Given the description of an element on the screen output the (x, y) to click on. 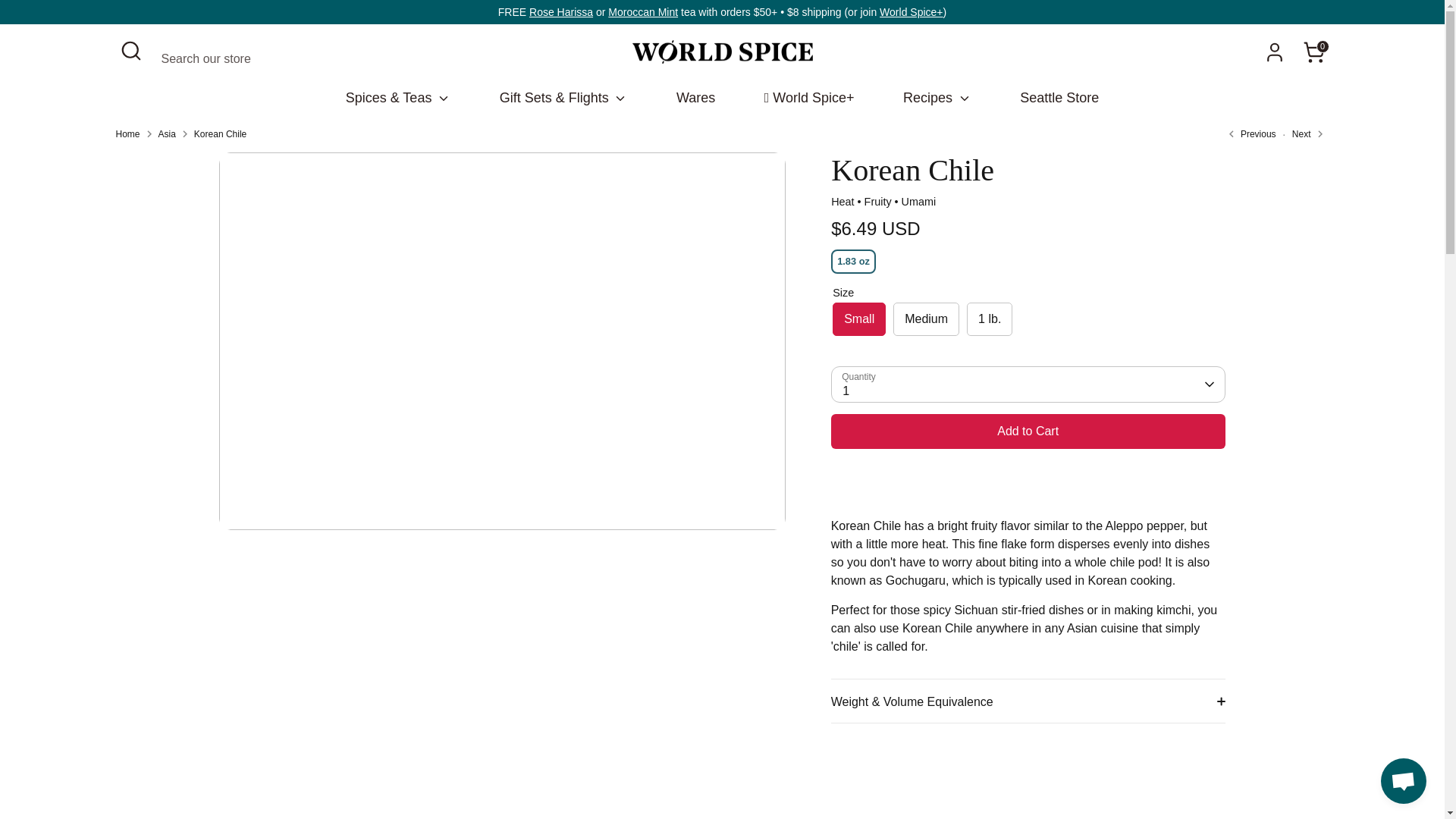
Moroccan Mint (643, 11)
World Spice Plus (910, 11)
Rose Harissa (560, 11)
Moroccan Mint (643, 11)
0 (1312, 51)
Long Pepper (1302, 133)
Japones (1249, 133)
Rose Harissa (560, 11)
